Given the description of an element on the screen output the (x, y) to click on. 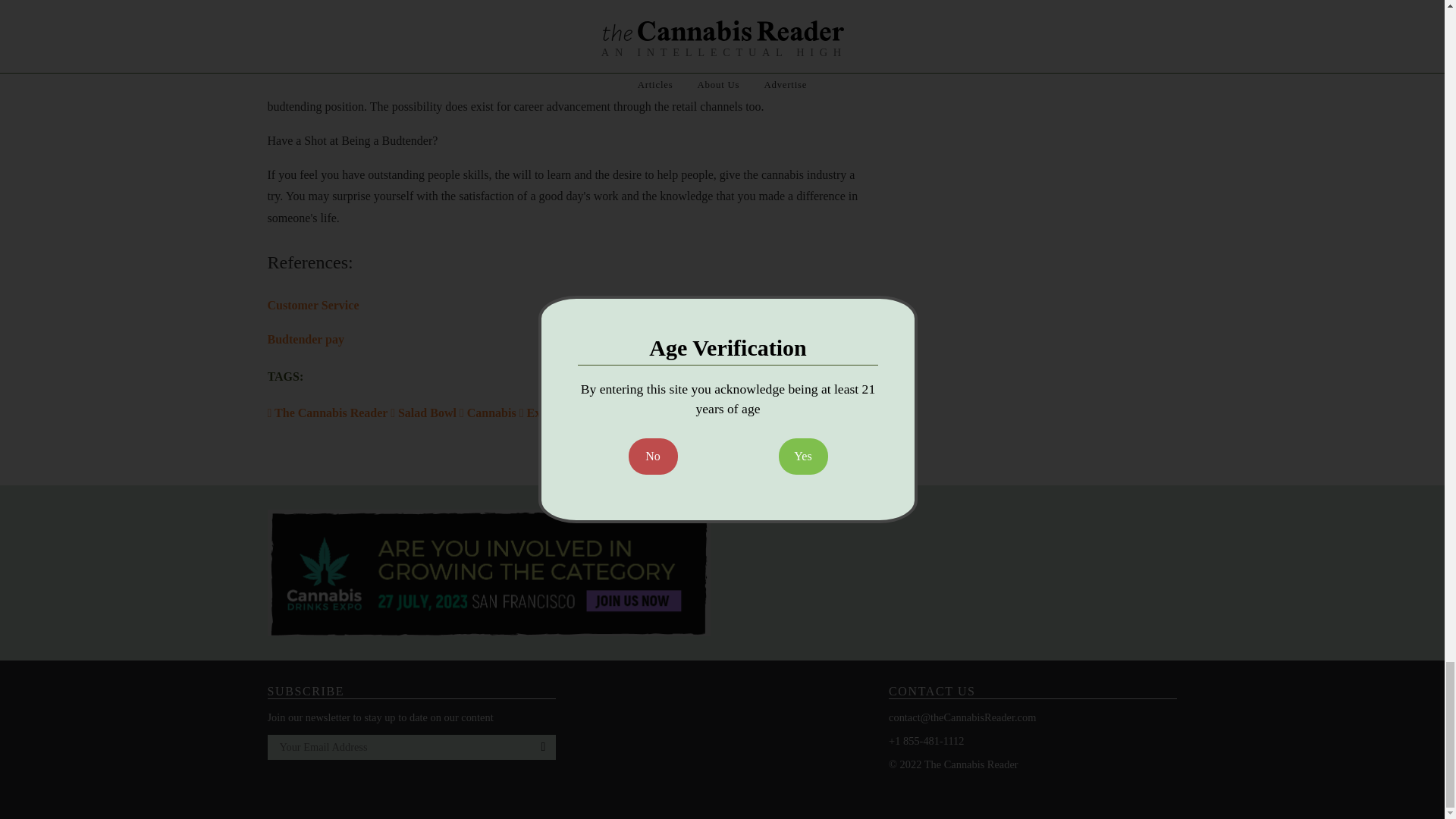
Visit Salary Homepage (362, 29)
Producer Profiles (631, 412)
The Cannabis Reader (328, 412)
Salary.com (362, 29)
Visit Sales Force Homepage (312, 305)
Cannabis (486, 412)
Exhibitors (548, 412)
Visit Budtender Pay Homepage (304, 338)
Budtender pay (304, 338)
Salad Bowl (423, 412)
Customer Service (312, 305)
